Given the description of an element on the screen output the (x, y) to click on. 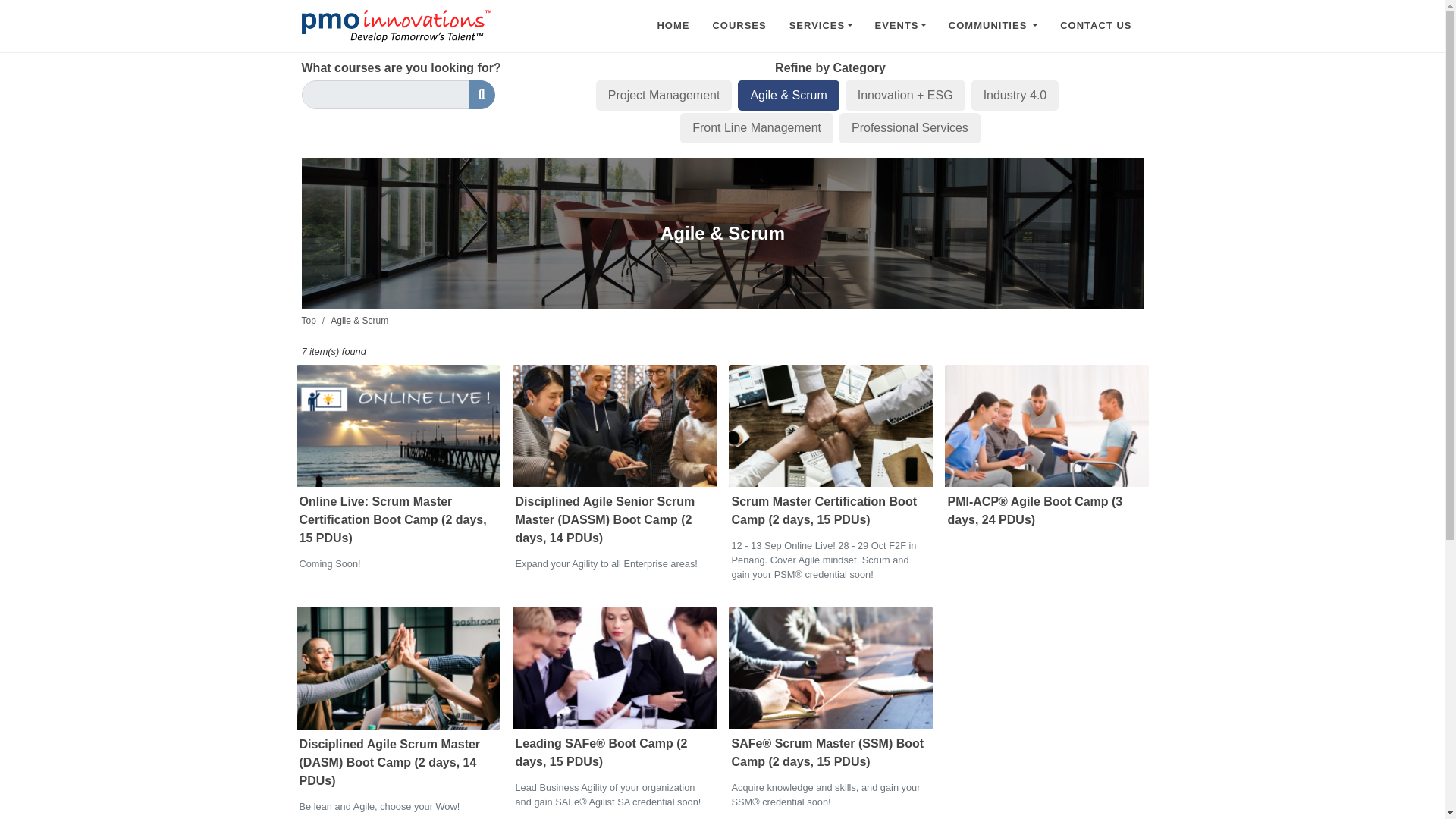
COMMUNITIES (992, 25)
Industry 4.0 (1015, 95)
Front Line Management (755, 127)
Top (308, 320)
Project Management (663, 95)
Professional Services (909, 127)
HOME (672, 25)
EVENTS (900, 25)
COURSES (738, 25)
SERVICES (820, 25)
CONTACT US (1095, 25)
